Given the description of an element on the screen output the (x, y) to click on. 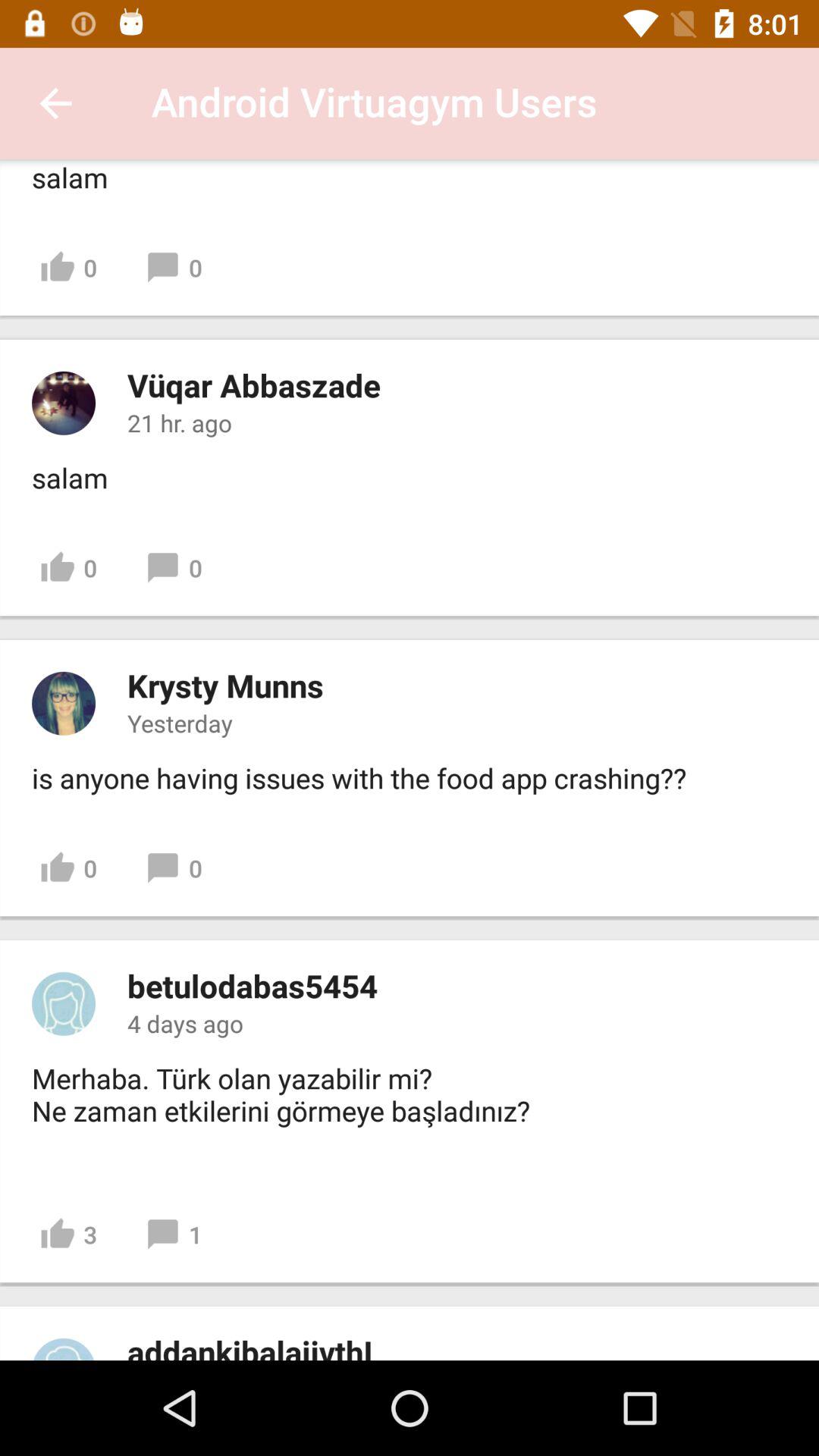
go to profile (63, 1349)
